Given the description of an element on the screen output the (x, y) to click on. 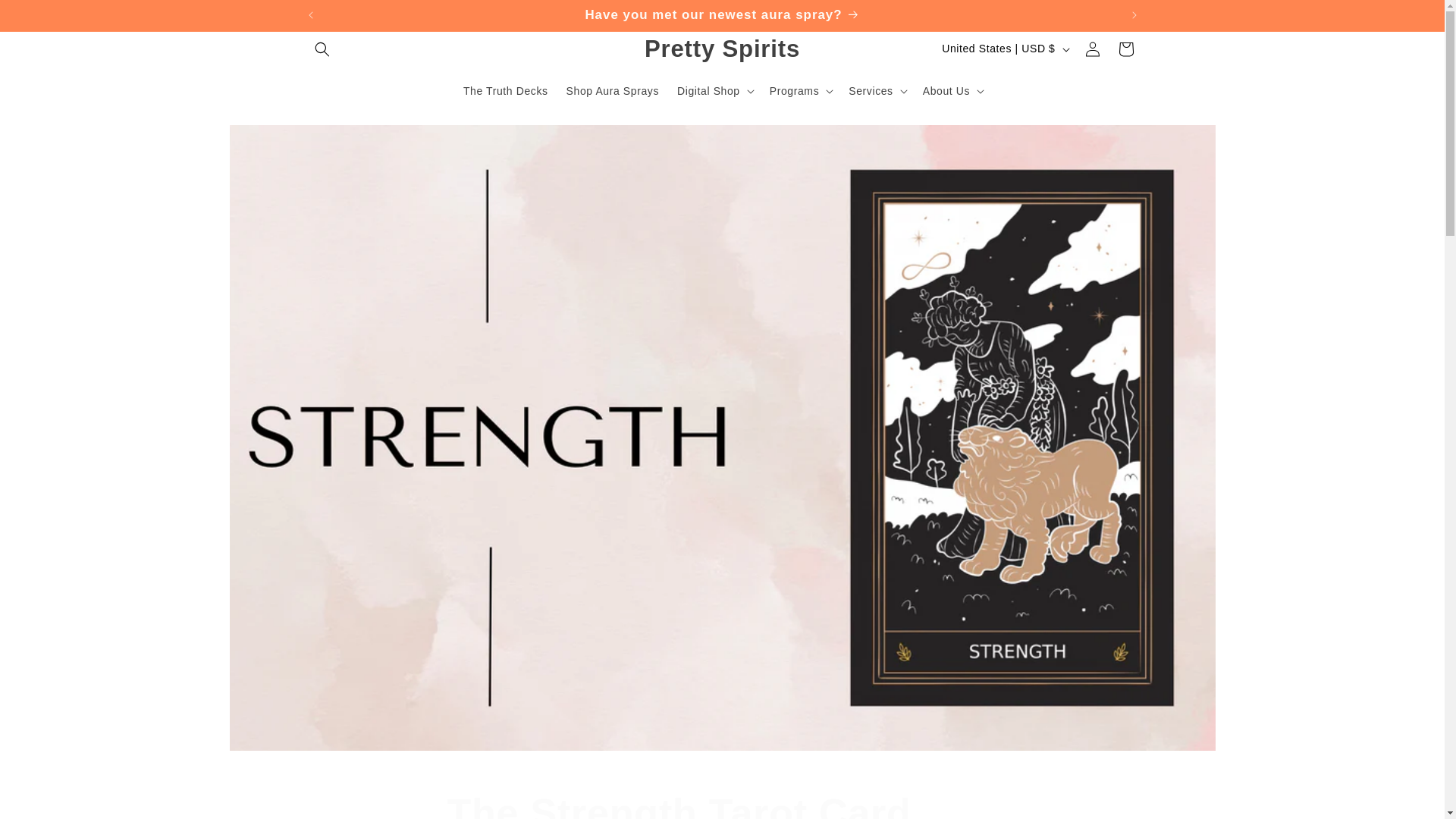
Skip to content (45, 17)
Pretty Spirits (721, 803)
The Truth Decks (722, 48)
Have you met our newest aura spray? (505, 90)
Shop Aura Sprays (722, 15)
